Given the description of an element on the screen output the (x, y) to click on. 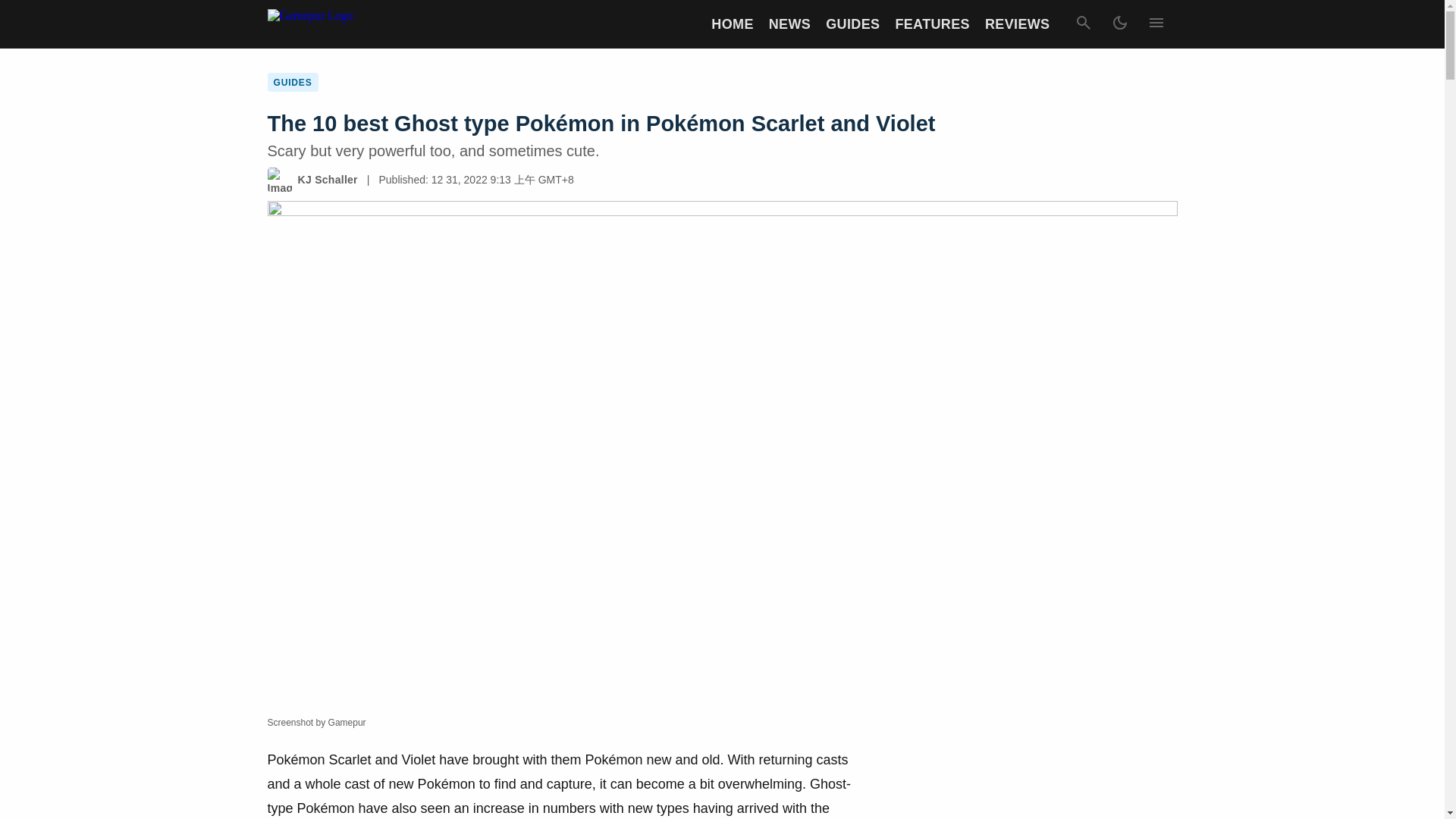
GUIDES (852, 23)
Expand Menu (1155, 23)
HOME (731, 23)
Dark Mode (1118, 23)
REVIEWS (1017, 23)
NEWS (789, 23)
FEATURES (932, 23)
Search (1082, 23)
